Given the description of an element on the screen output the (x, y) to click on. 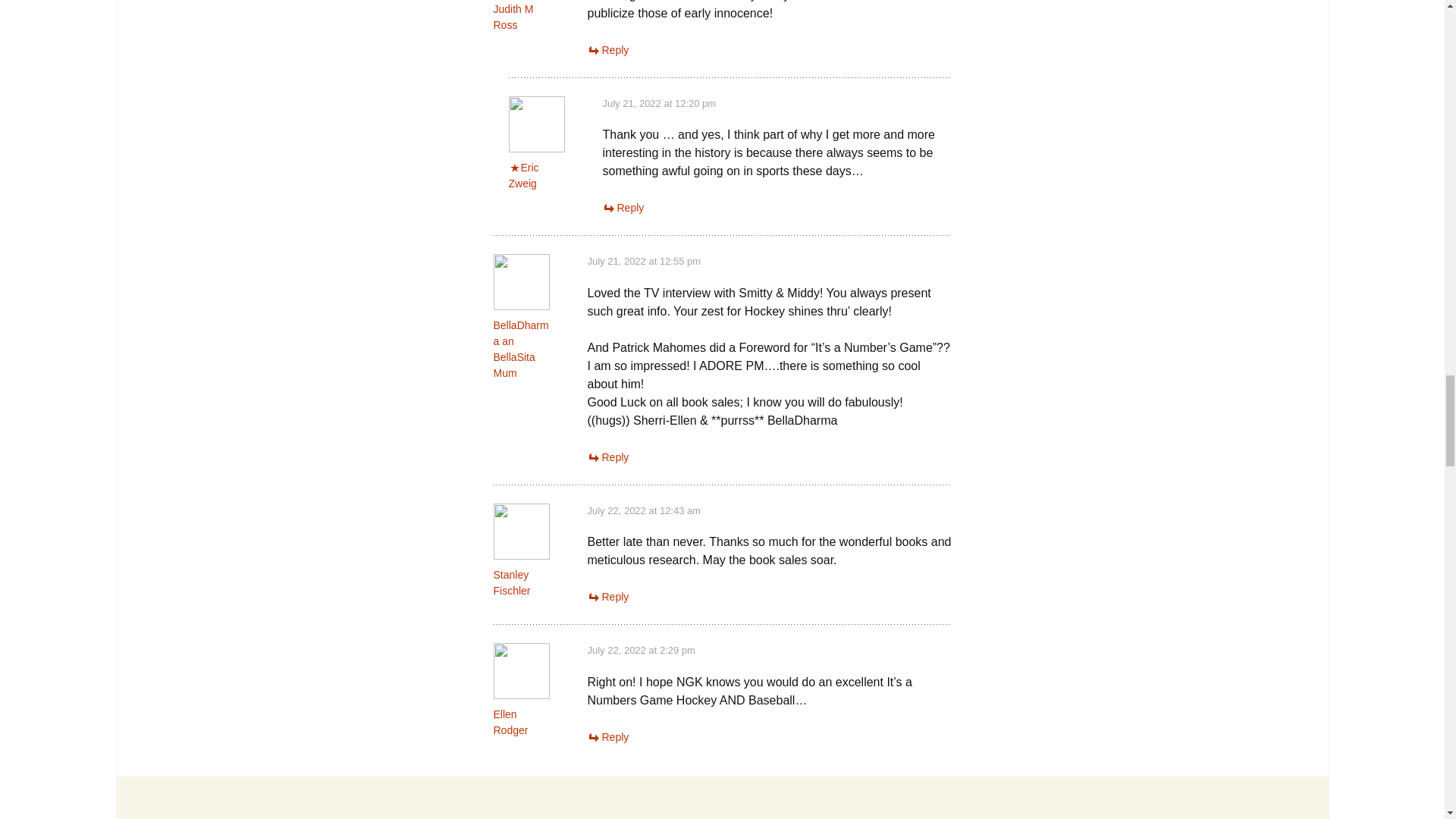
Reply (607, 50)
Eric Zweig (523, 175)
Reply (622, 207)
July 21, 2022 at 12:20 pm (659, 102)
July 21, 2022 at 12:55 pm (643, 260)
BellaDharma an BellaSita Mum (520, 349)
